Given the description of an element on the screen output the (x, y) to click on. 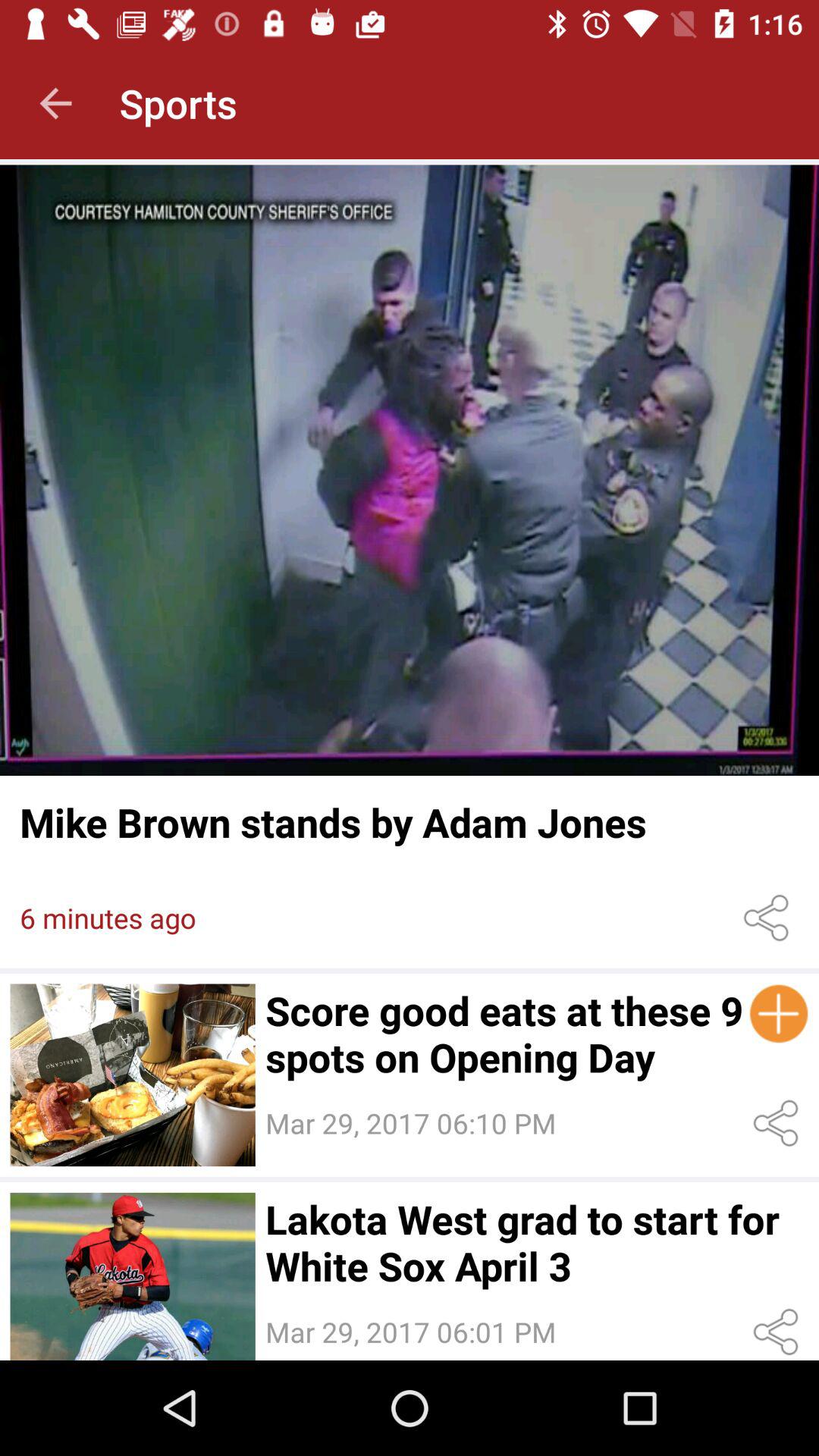
play selected video (132, 1276)
